Given the description of an element on the screen output the (x, y) to click on. 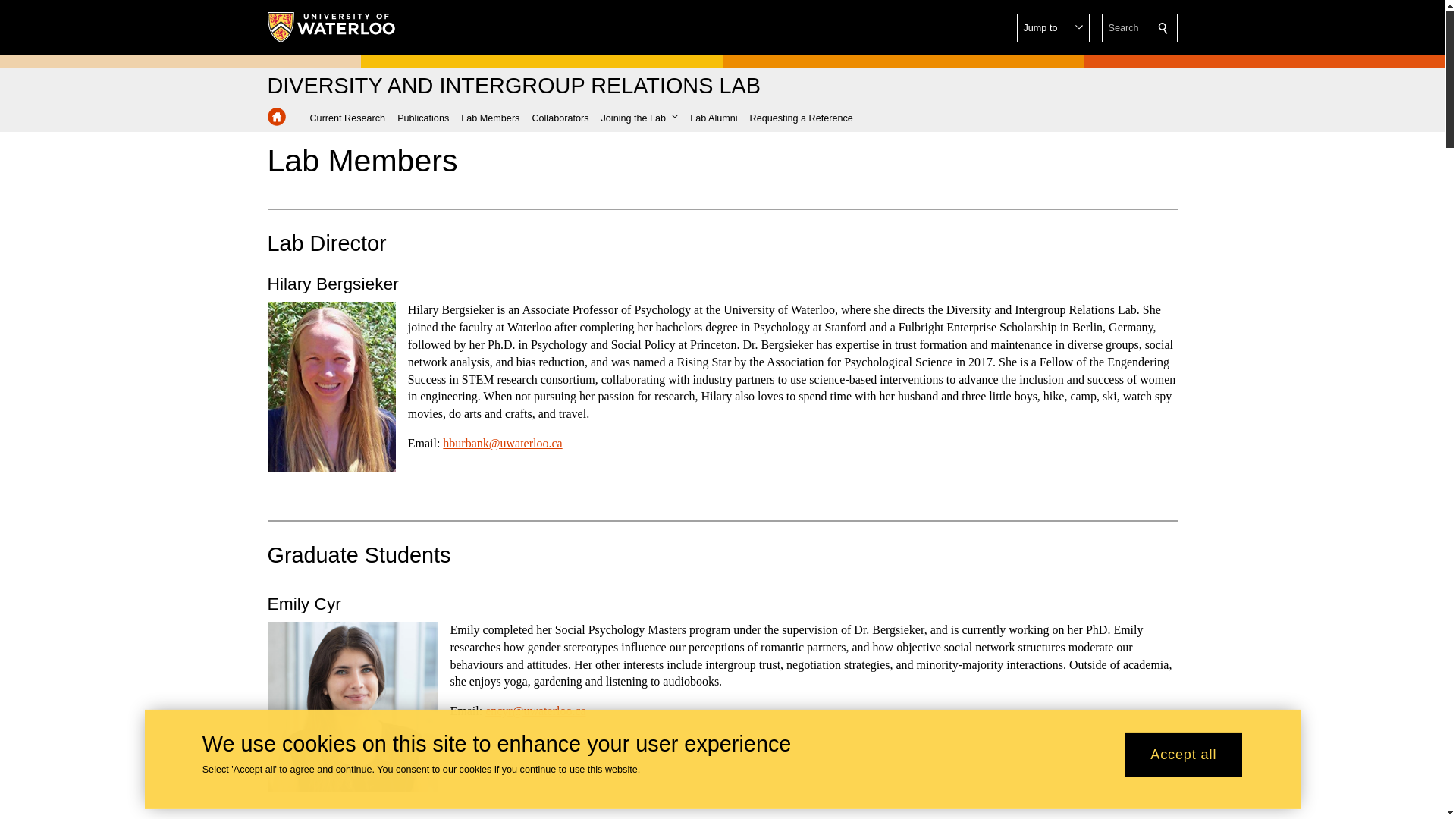
Lab Alumni (713, 117)
Lab Members (489, 117)
Search (1163, 27)
Publications (422, 117)
University of Waterloo Home (331, 27)
Diversity and Intergroup Relations Lab Home (275, 116)
Jump to (1053, 27)
Joining the Lab (639, 117)
DIVERSITY AND INTERGROUP RELATIONS LAB (513, 85)
Search (1163, 27)
Current Research (346, 117)
Diversity and Intergroup Relations Lab Home (275, 116)
Collaborators (559, 117)
Diversity and Intergroup Relations Lab Home (513, 85)
